Given the description of an element on the screen output the (x, y) to click on. 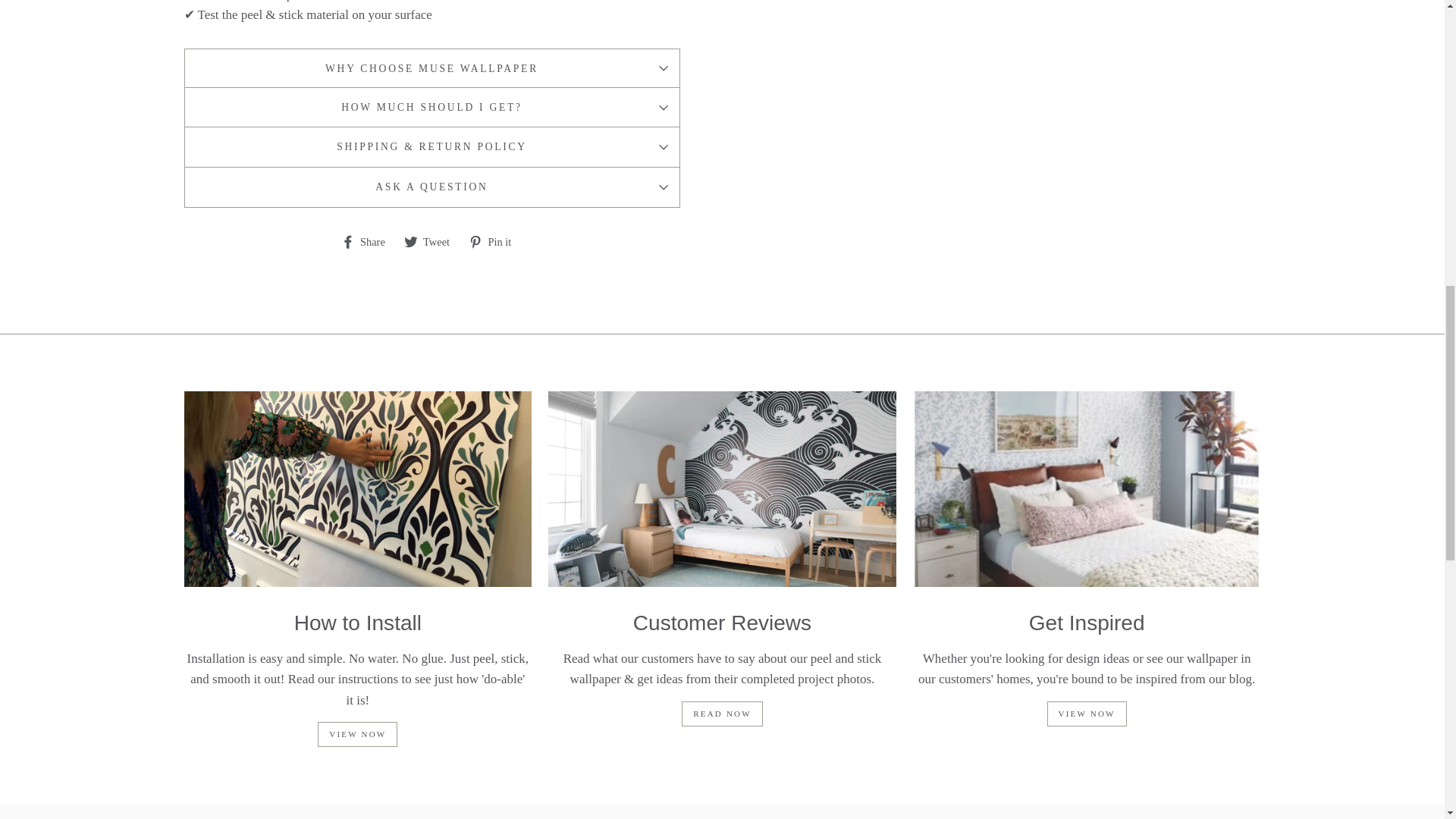
Share on Facebook (368, 241)
Tweet on Twitter (432, 241)
Pin on Pinterest (495, 241)
